Given the description of an element on the screen output the (x, y) to click on. 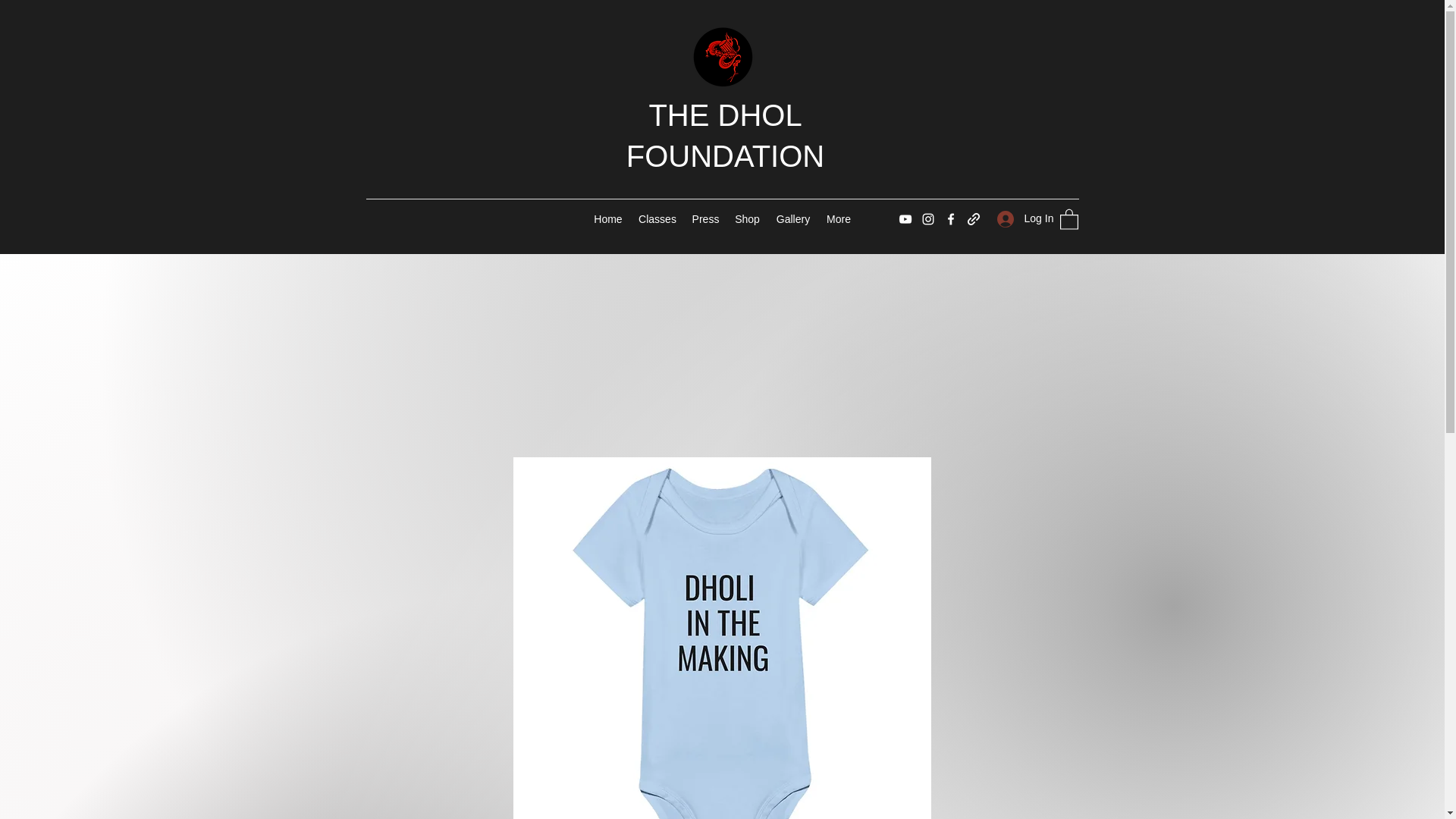
THE DHOL FOUNDATION (725, 135)
Press (705, 219)
Classes (657, 219)
Shop (746, 219)
Log In (1019, 218)
Gallery (792, 219)
Home (607, 219)
